Given the description of an element on the screen output the (x, y) to click on. 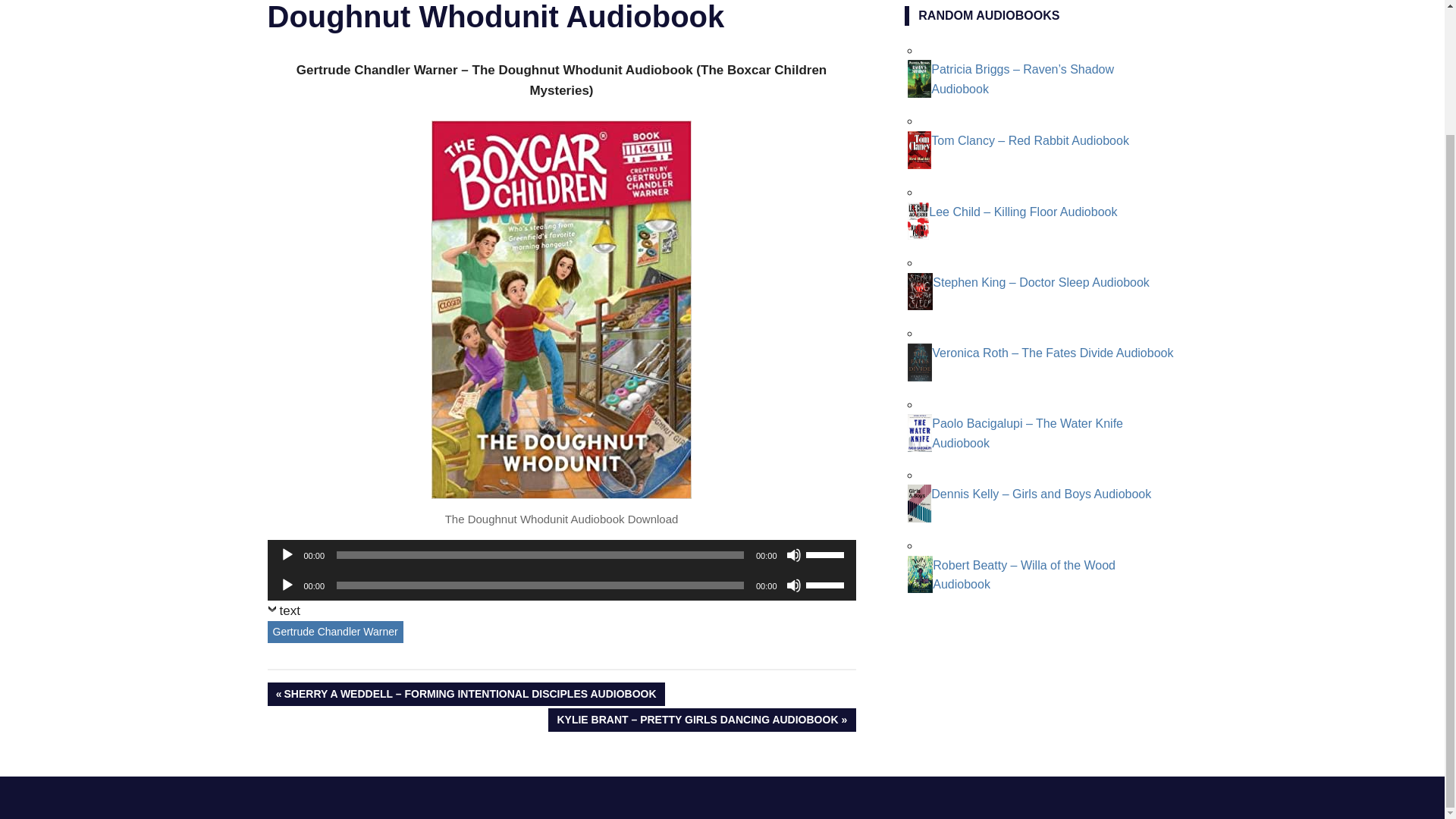
text (282, 614)
Play (286, 585)
Mute (793, 554)
Mute (793, 585)
Play (286, 554)
Gertrude Chandler Warner (334, 631)
